Given the description of an element on the screen output the (x, y) to click on. 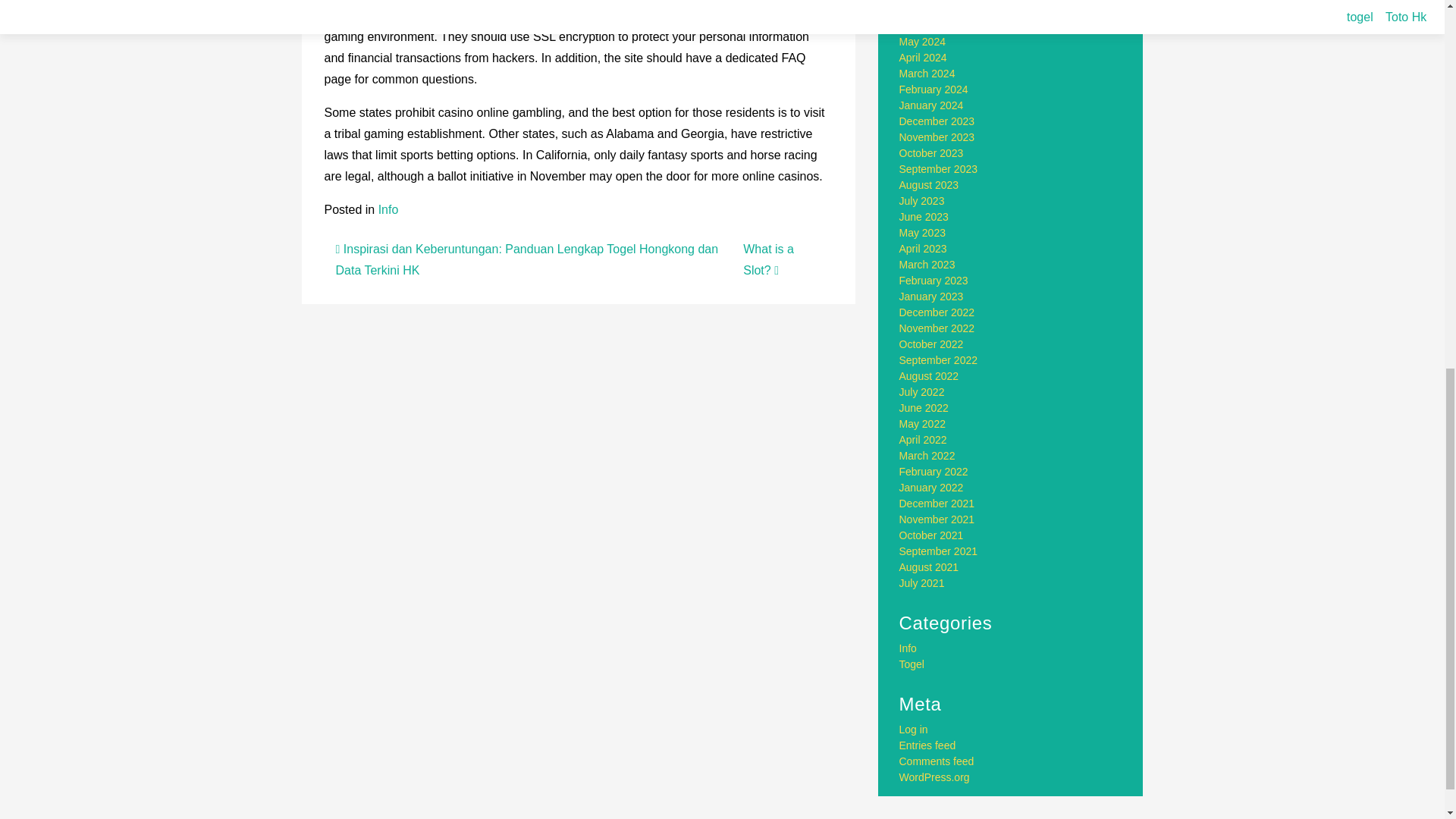
January 2023 (931, 296)
October 2023 (931, 152)
March 2023 (927, 264)
Info (388, 209)
April 2023 (923, 248)
June 2023 (924, 216)
November 2023 (937, 137)
August 2023 (929, 184)
February 2024 (933, 89)
